Given the description of an element on the screen output the (x, y) to click on. 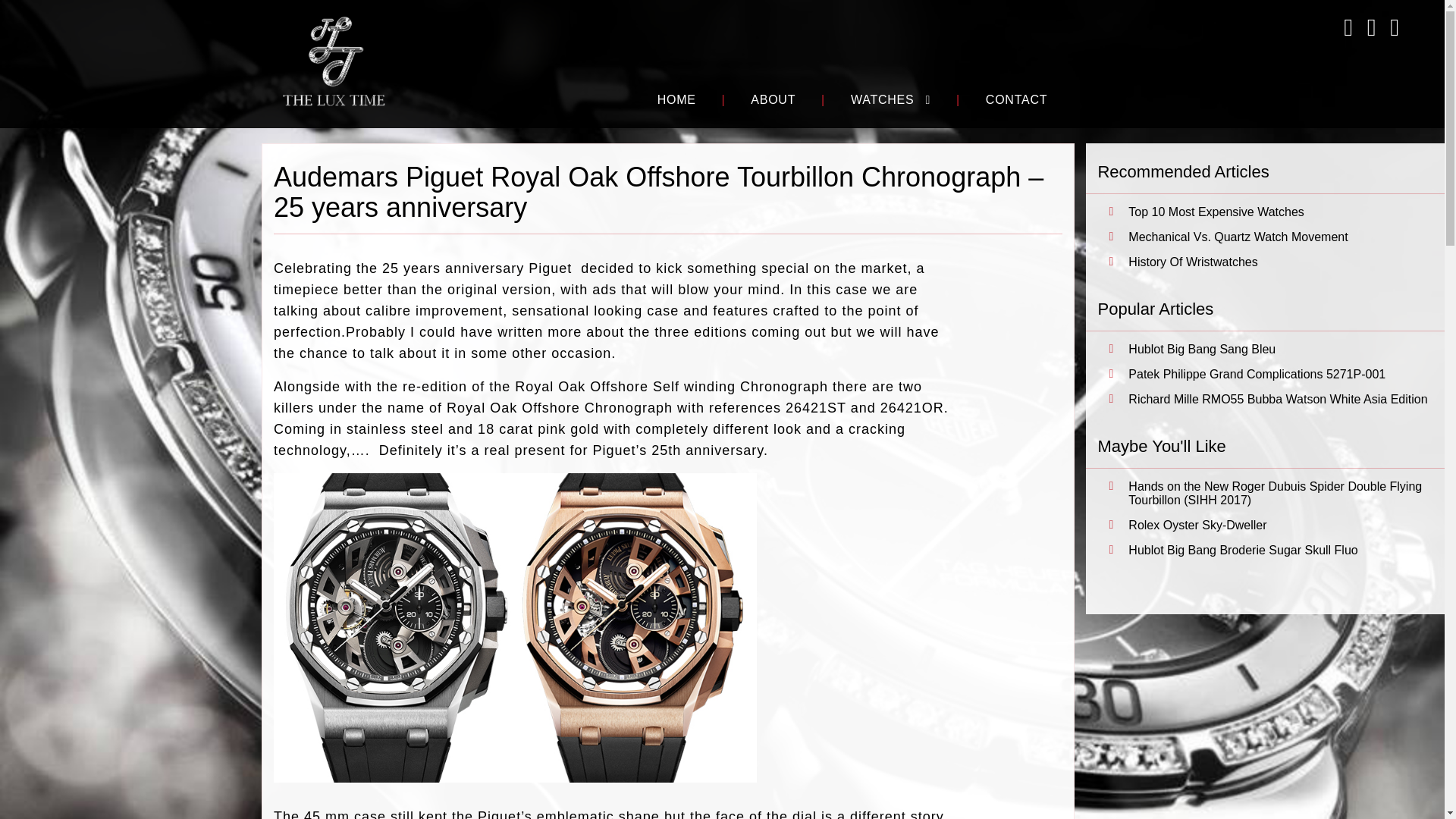
ABOUT (772, 99)
HOME (676, 99)
CONTACT (1015, 99)
